Given the description of an element on the screen output the (x, y) to click on. 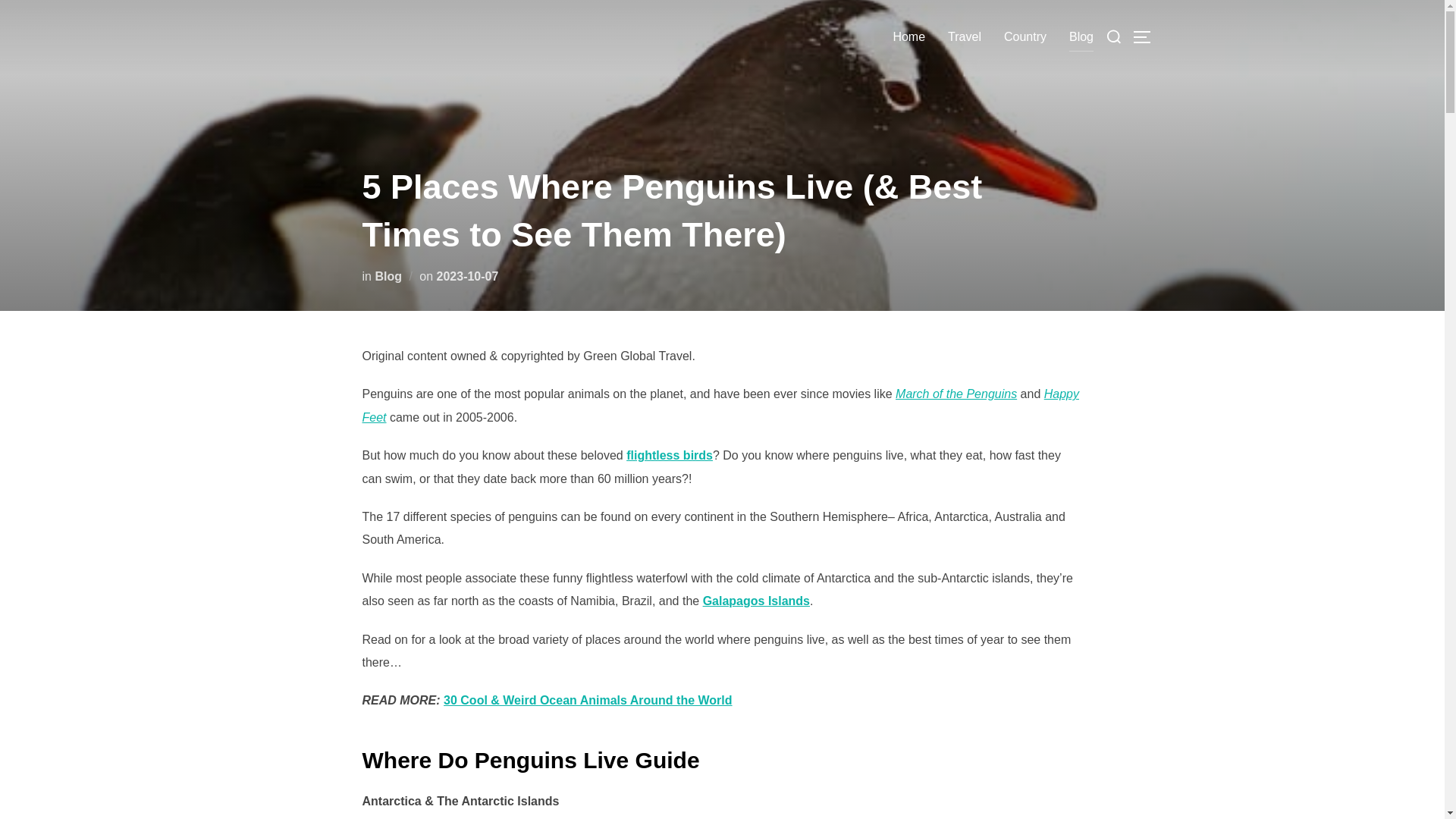
2023-10-07 (467, 276)
Blog (387, 276)
Happy Feet (720, 405)
Galapagos Islands (756, 600)
flightless birds (669, 454)
March of the Penguins (955, 393)
Home (908, 36)
Travel (964, 36)
